Given the description of an element on the screen output the (x, y) to click on. 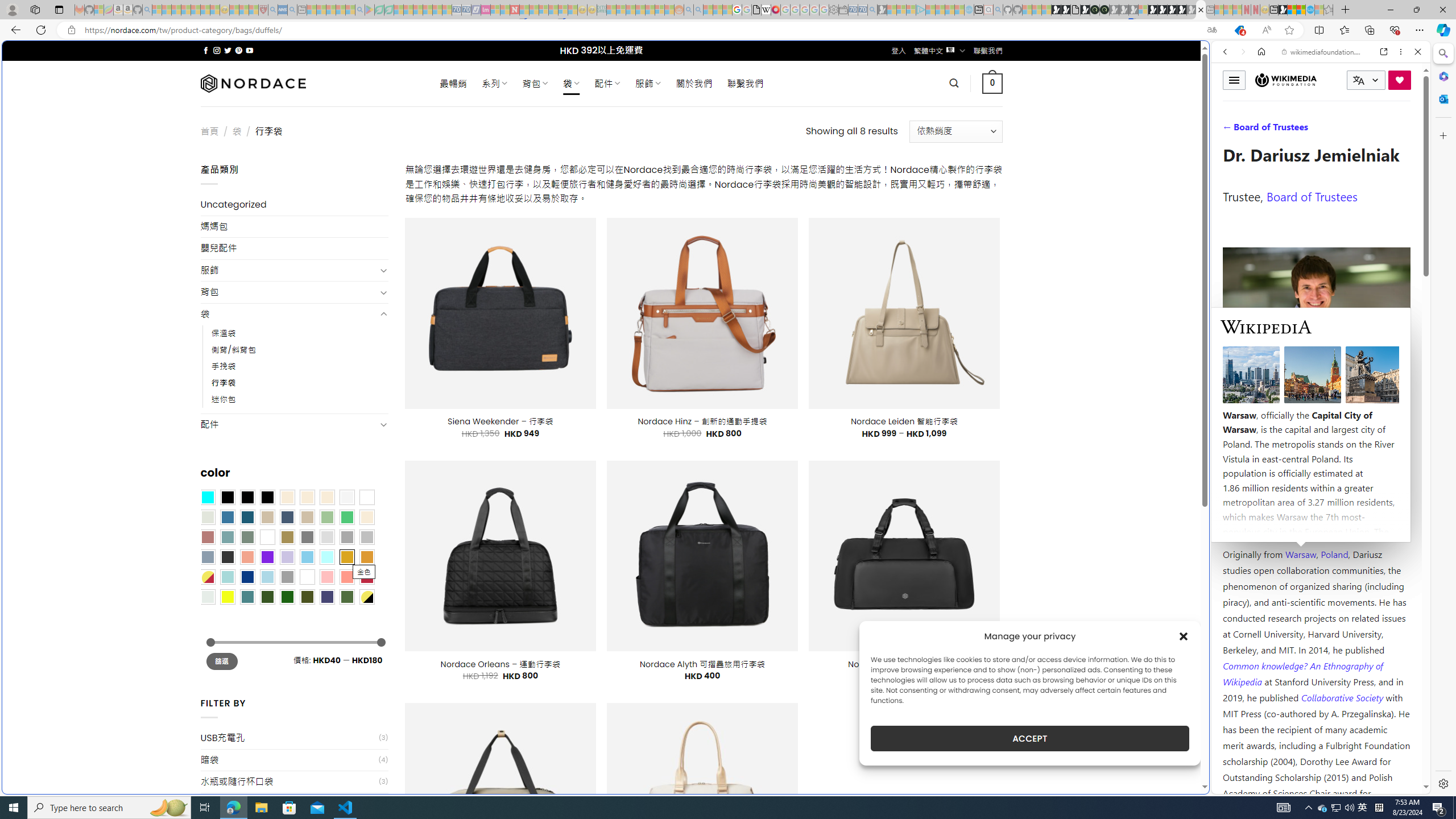
Cream (327, 497)
SEARCH TOOLS (1350, 130)
Kinda Frugal - MSN - Sleeping (649, 9)
Wikimedia Foundation (1286, 79)
